Given the description of an element on the screen output the (x, y) to click on. 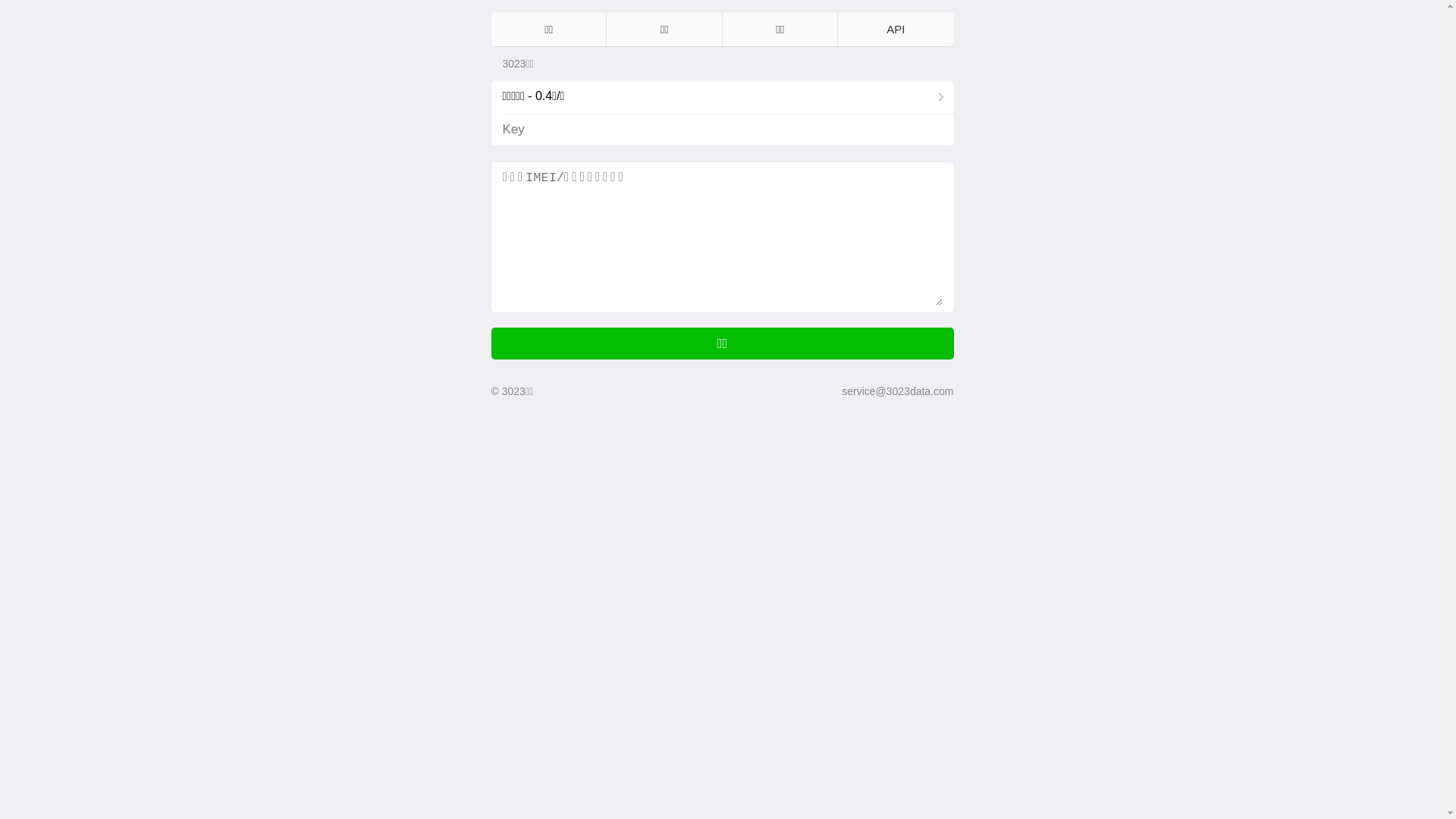
service@3023data.com Element type: text (897, 391)
API Element type: text (895, 29)
Key Element type: hover (677, 129)
